Given the description of an element on the screen output the (x, y) to click on. 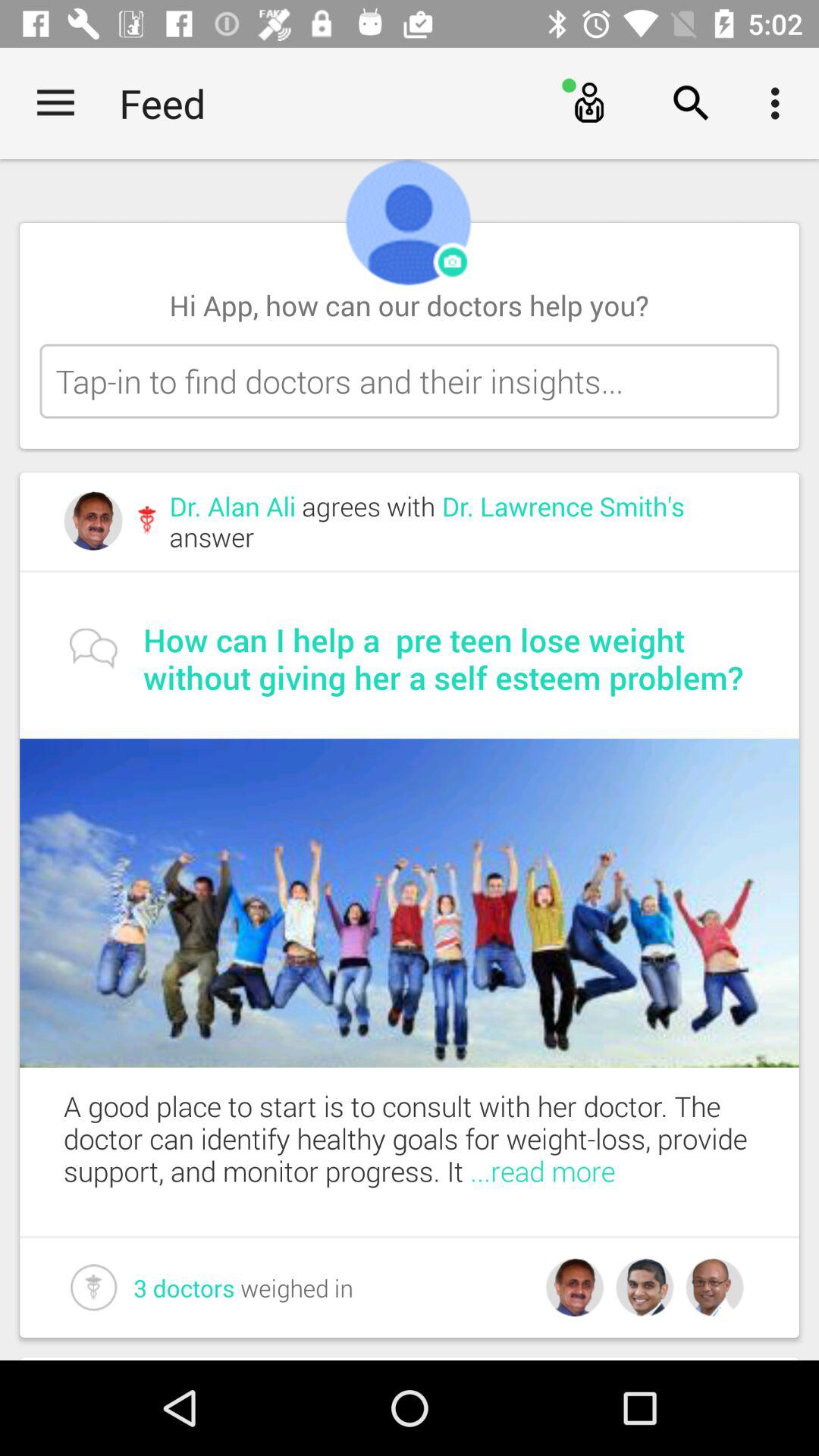
launch the item below the how can i item (409, 902)
